Given the description of an element on the screen output the (x, y) to click on. 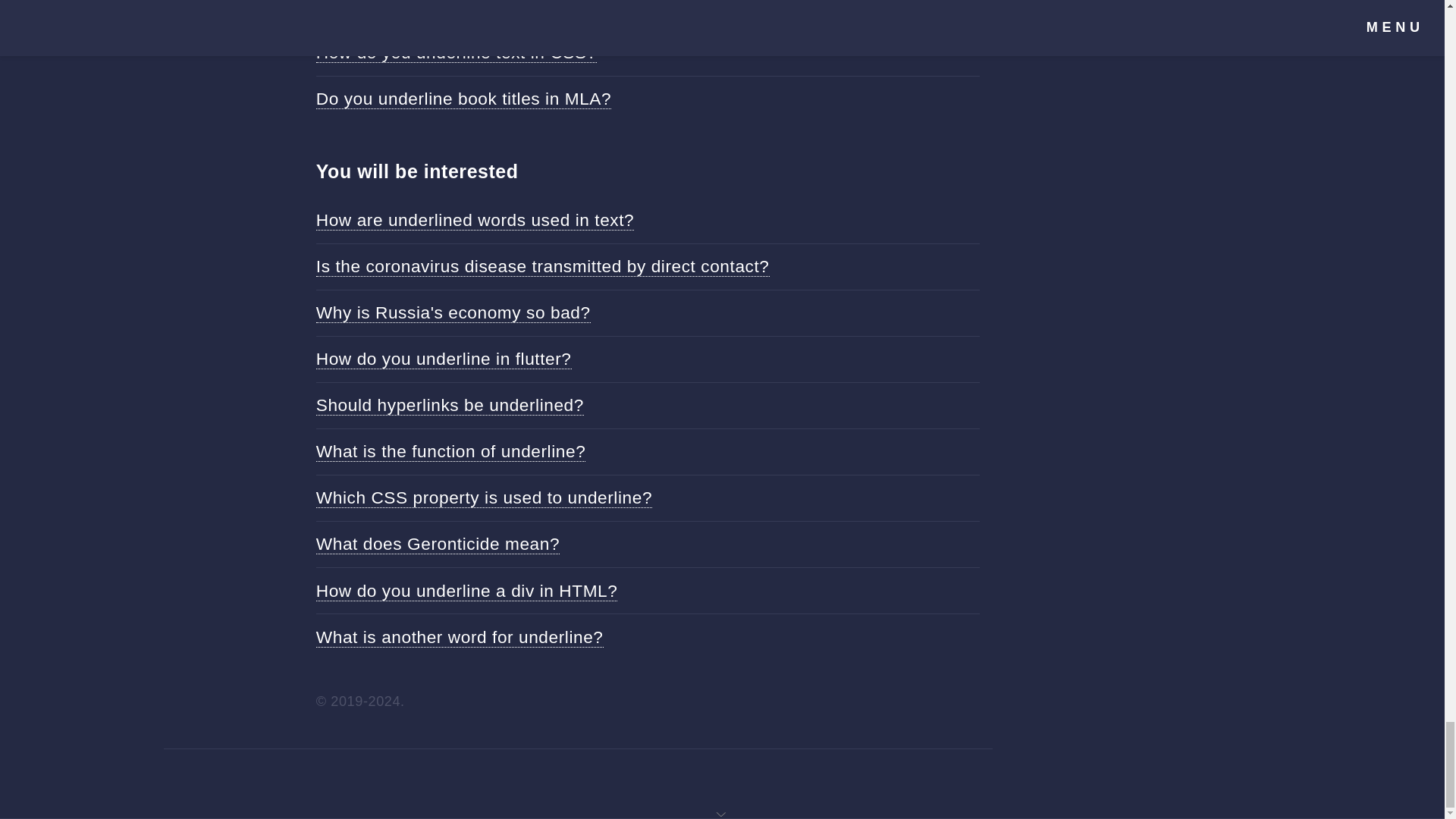
Should hyperlinks be underlined? (449, 404)
Why is Russia's economy so bad? (453, 312)
What is germicide? (392, 8)
Do you underline book titles in MLA? (463, 98)
How are underlined words used in text? (474, 219)
How do you underline text in CSS? (455, 52)
How do you underline in flutter? (443, 358)
Is the coronavirus disease transmitted by direct contact? (542, 266)
